Given the description of an element on the screen output the (x, y) to click on. 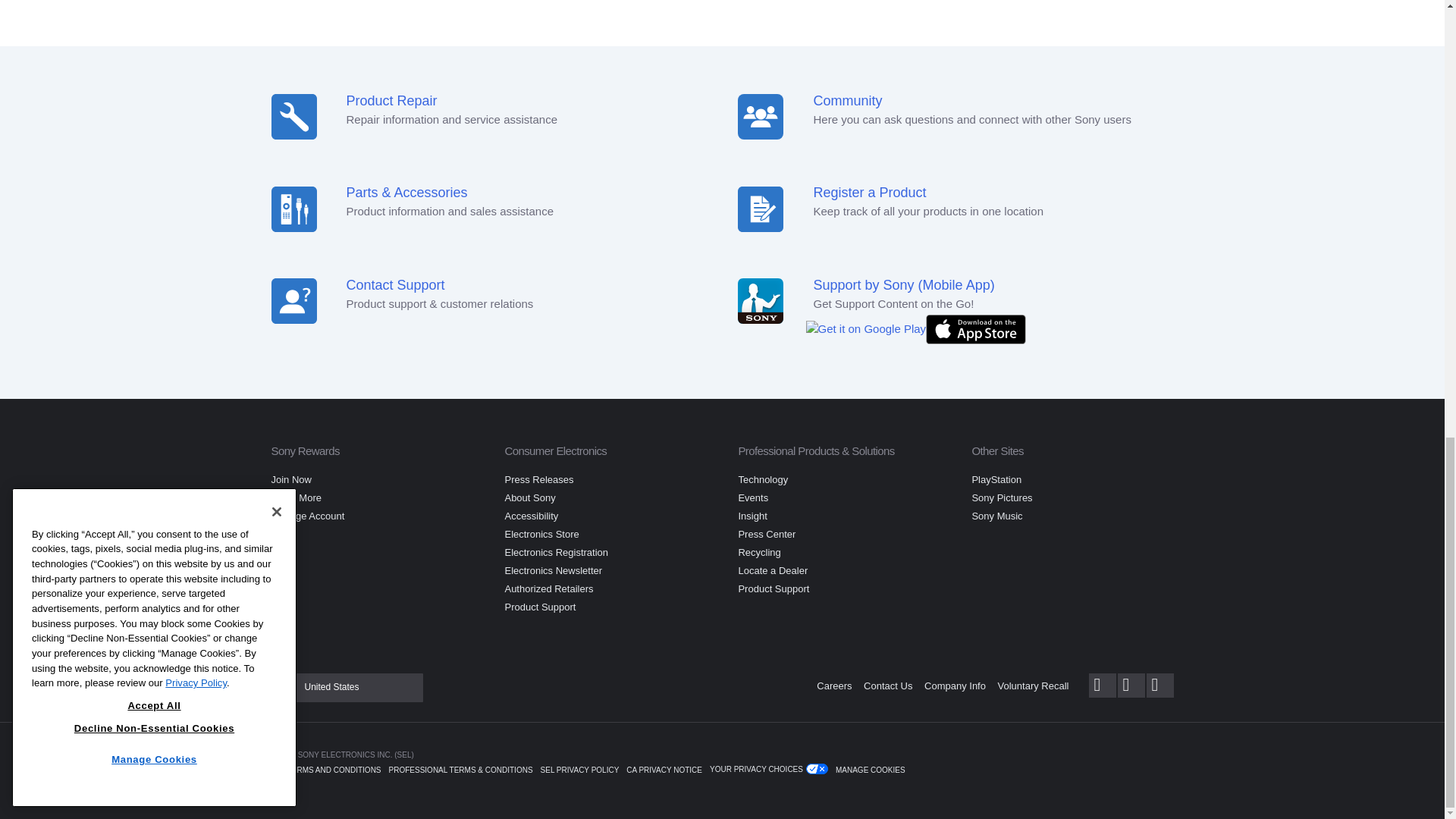
Electronics Registration (555, 552)
Join Now (290, 479)
About Sony (528, 497)
Learn More (295, 497)
Electronics Store (540, 533)
Learn More (295, 497)
Join Now (290, 479)
Electronics Newsletter (552, 570)
Manage Account (307, 515)
Accessibility (530, 515)
Press Releases (538, 479)
